Given the description of an element on the screen output the (x, y) to click on. 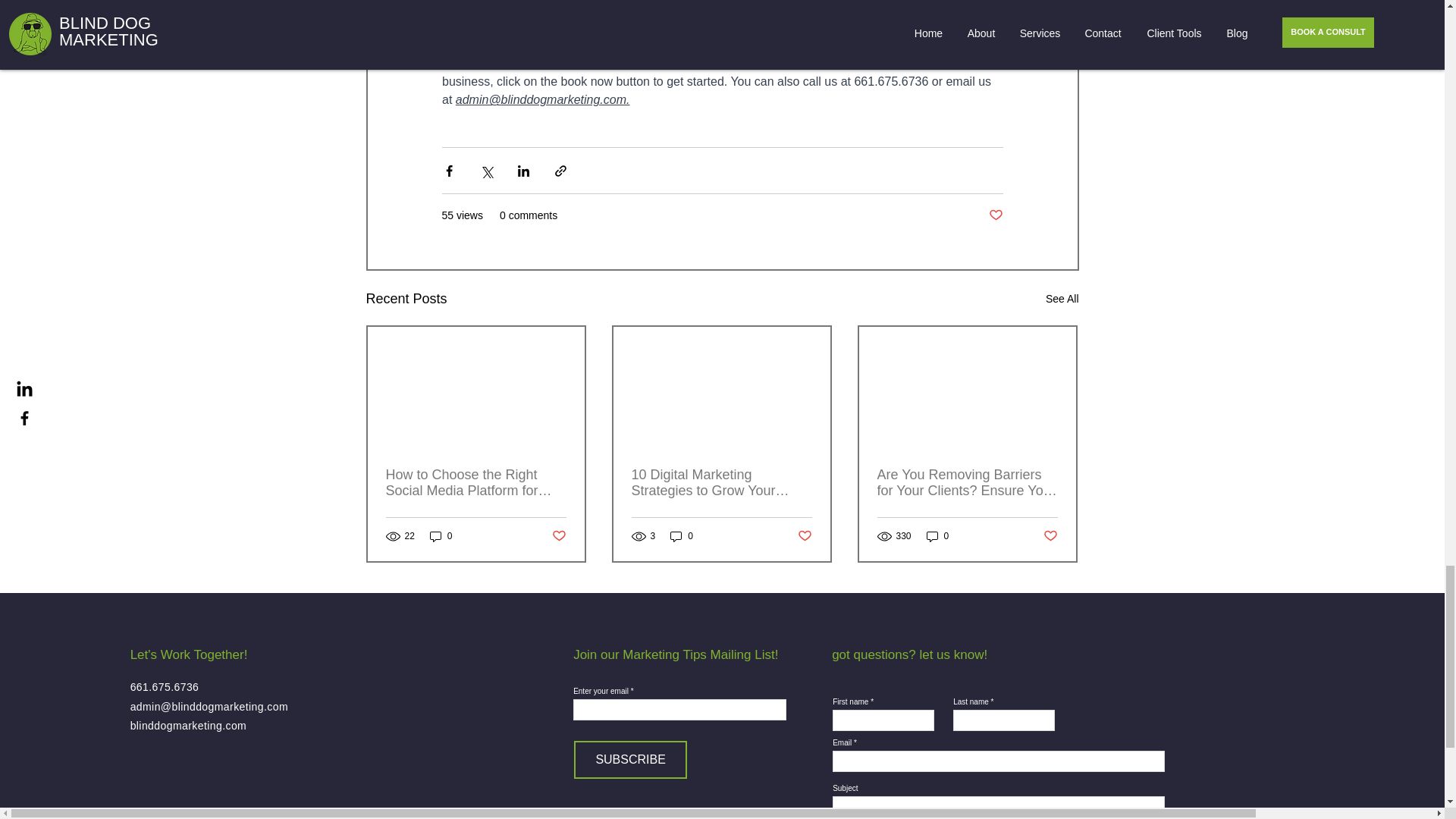
Post not marked as liked (722, 17)
Post not marked as liked (995, 215)
0 (558, 536)
See All (441, 536)
